Given the description of an element on the screen output the (x, y) to click on. 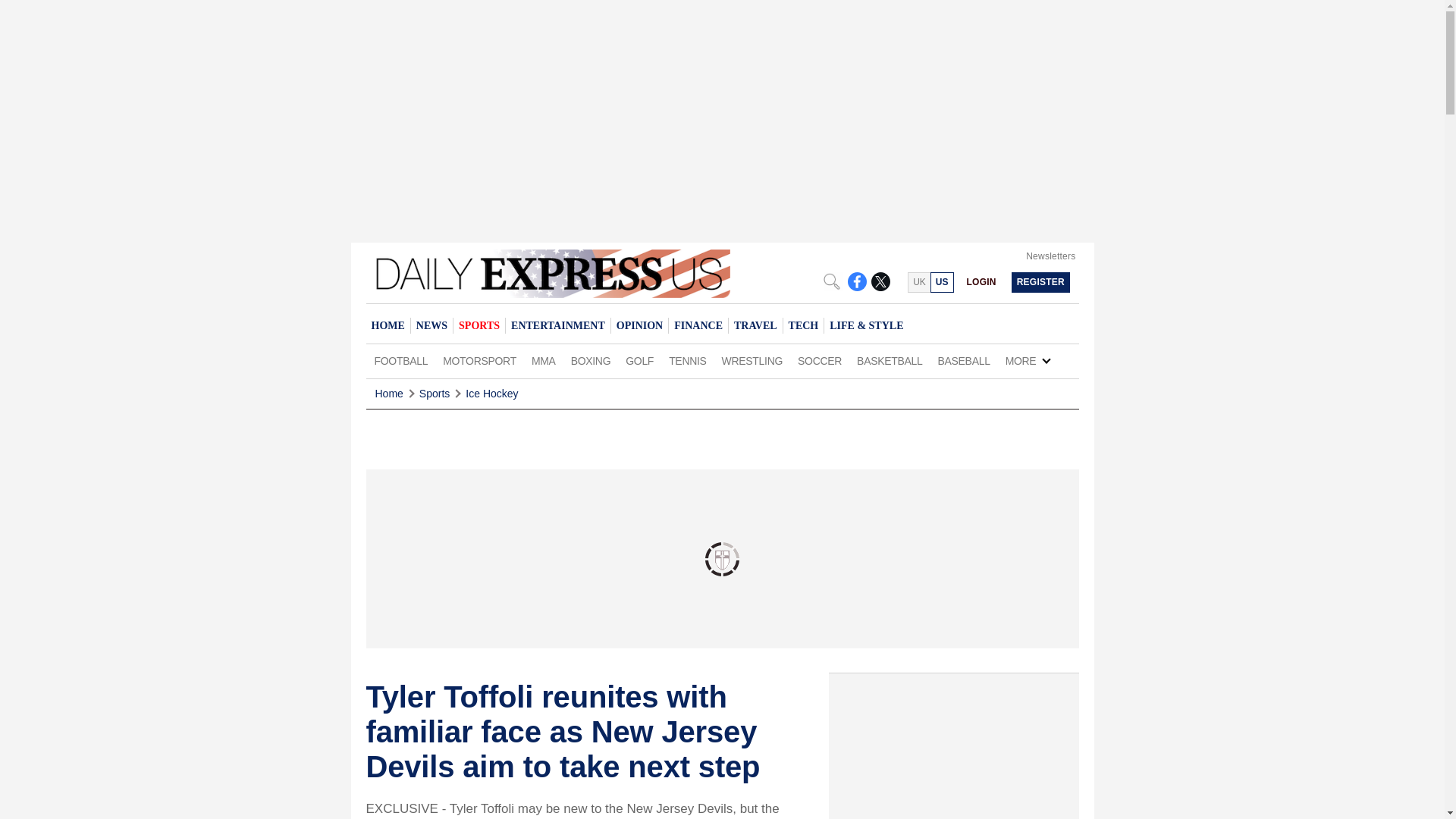
MOTORSPORT (479, 361)
BASKETBALL (889, 361)
FOOTBALL (400, 361)
ENTERTAINMENT (557, 325)
BASEBALL (963, 361)
NEWS (431, 325)
SOCCER (819, 361)
GOLF (639, 361)
Sports (434, 393)
OPINION (639, 325)
